Given the description of an element on the screen output the (x, y) to click on. 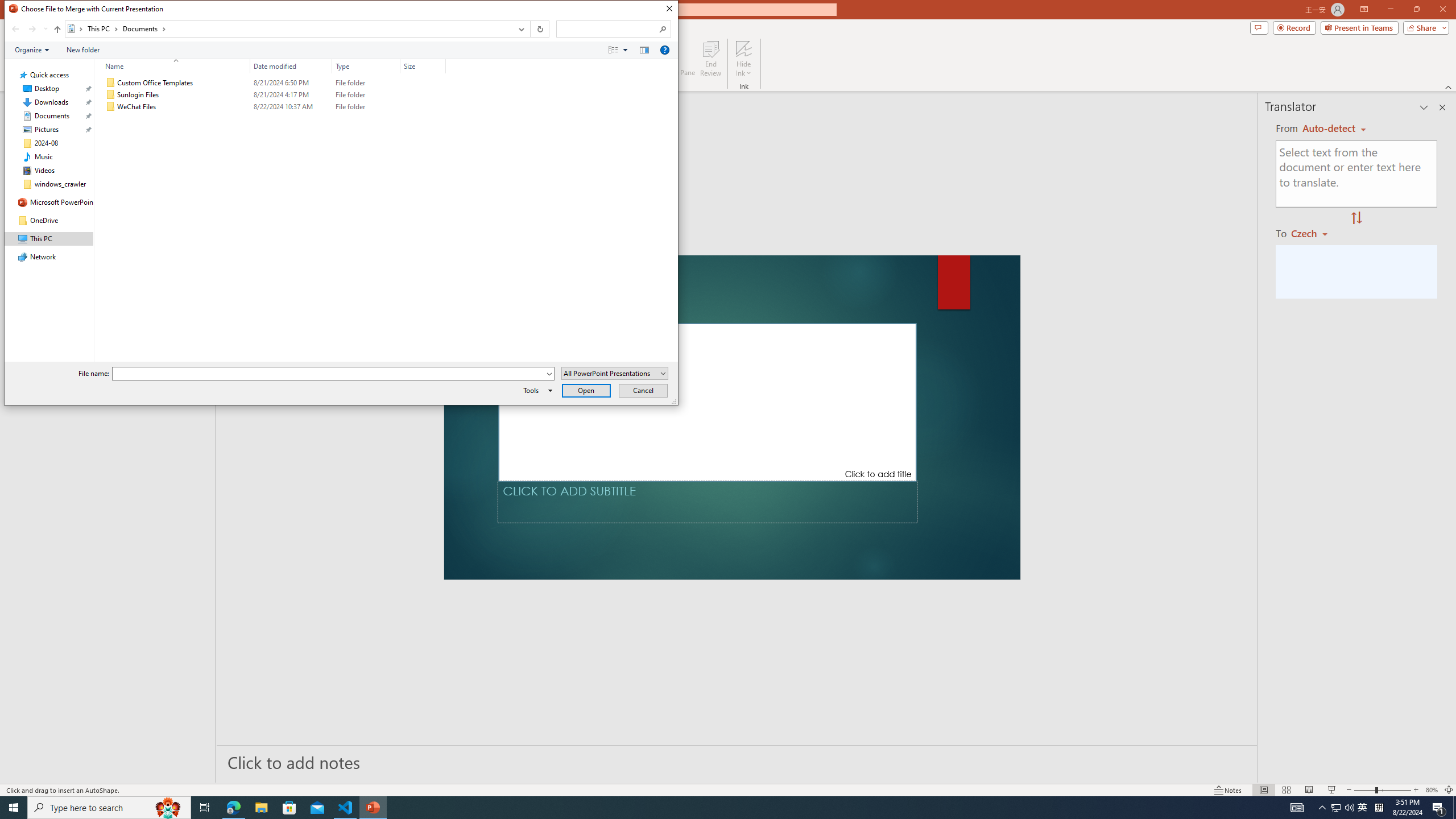
This PC (102, 28)
Address band toolbar (529, 28)
WeChat Files (273, 106)
Filter dropdown (440, 65)
&Help (664, 49)
Tools (535, 390)
Up to "This PC" (Alt + Up Arrow) (57, 29)
Views (620, 49)
Sunlogin Files (273, 94)
Size (422, 65)
Zoom 80% (1431, 790)
File name: (329, 373)
